Given the description of an element on the screen output the (x, y) to click on. 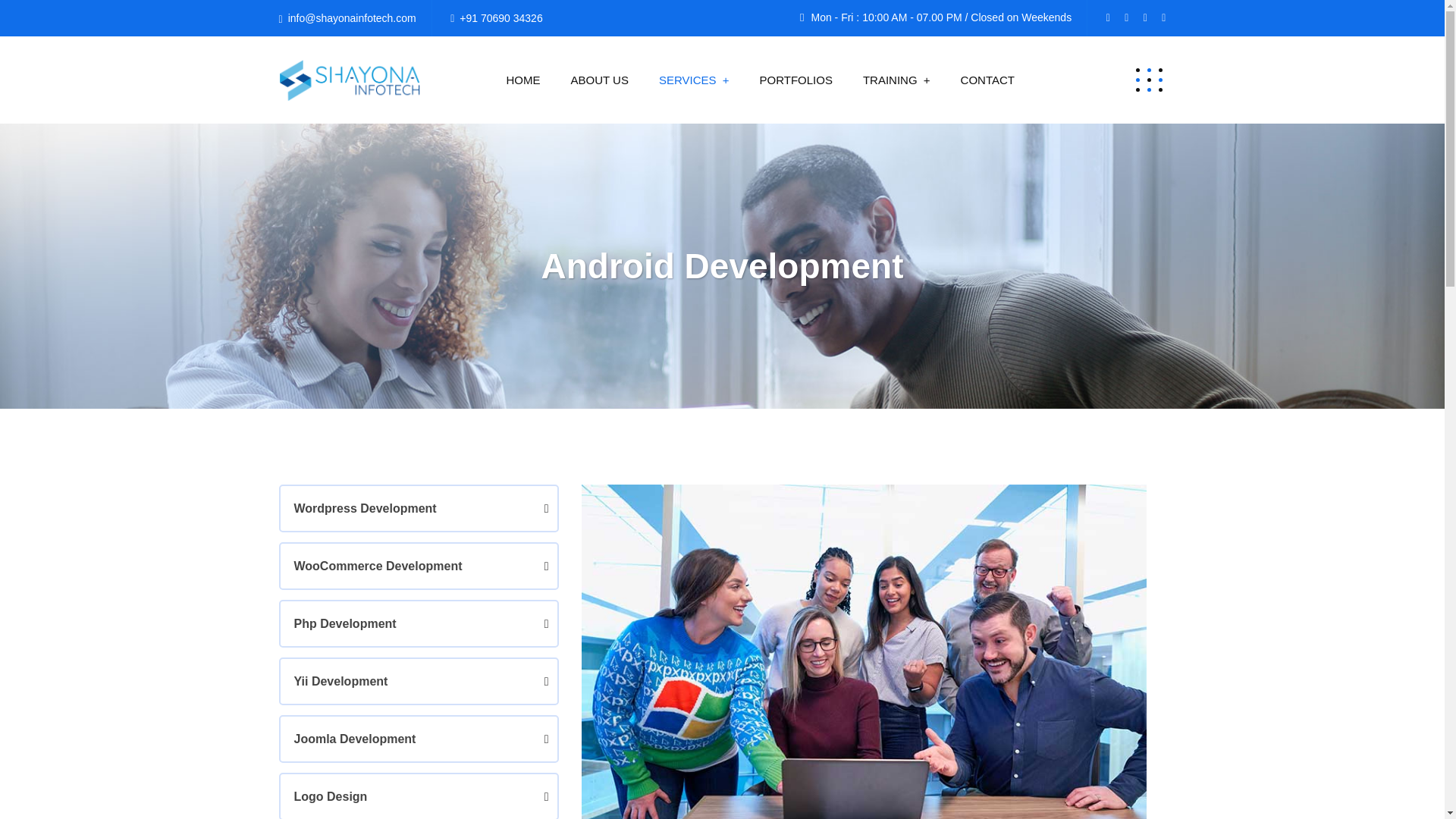
Yii Development (419, 681)
Wordpress Development (419, 508)
Php Development (419, 623)
Joomla Development (419, 738)
WooCommerce Development (419, 565)
